Given the description of an element on the screen output the (x, y) to click on. 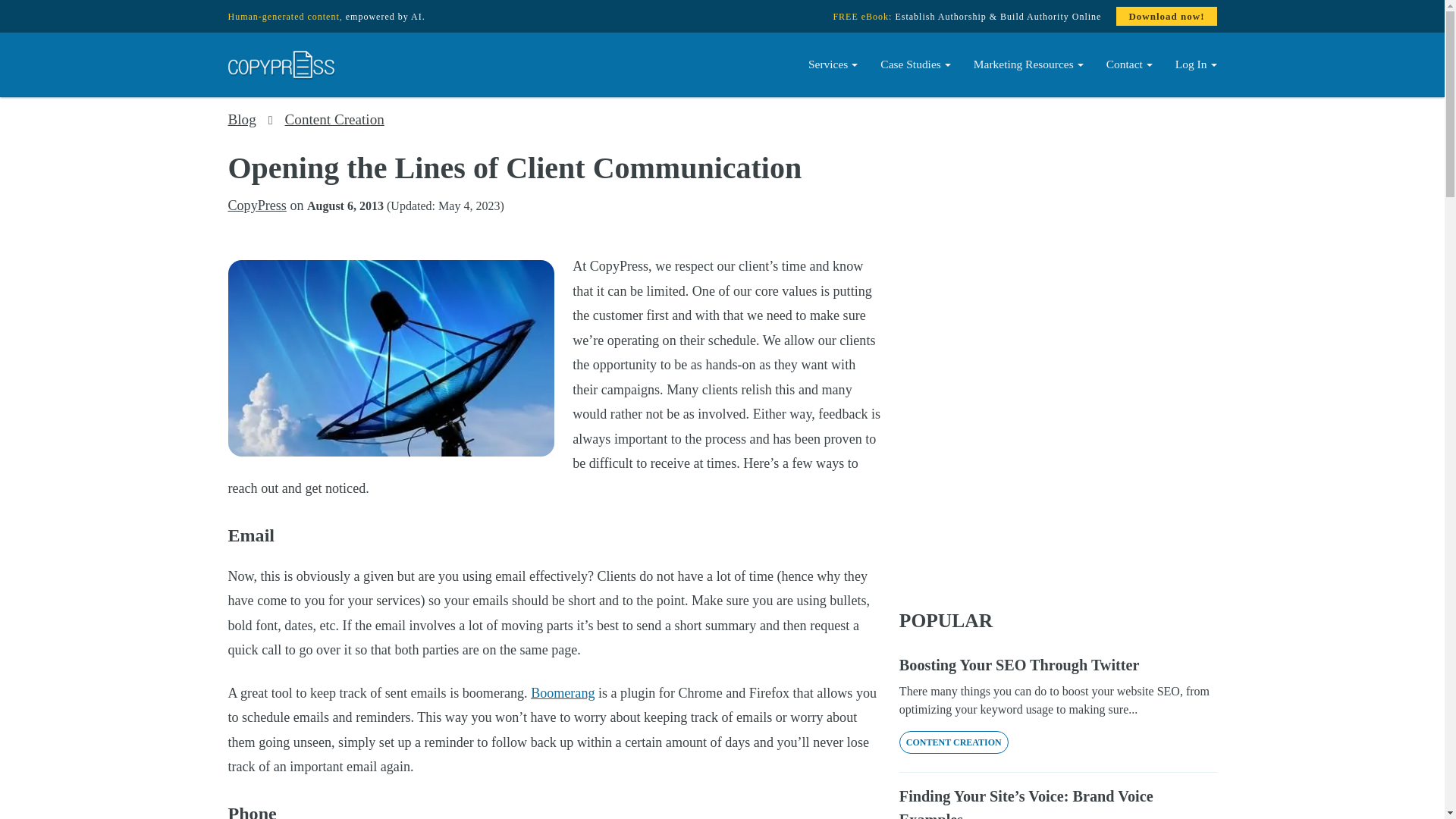
CONTENT CREATION (954, 742)
Contact (1128, 64)
Content Creation (334, 119)
Boomerang: The Power of the Follow Up (562, 693)
Marketing Resources (1028, 64)
Log In (1190, 64)
CopyPress (256, 205)
Boosting Your SEO Through Twitter (1058, 664)
Blog (241, 119)
Boomerang (562, 693)
Download now! (1165, 16)
Case Studies (915, 64)
Services (832, 64)
